Given the description of an element on the screen output the (x, y) to click on. 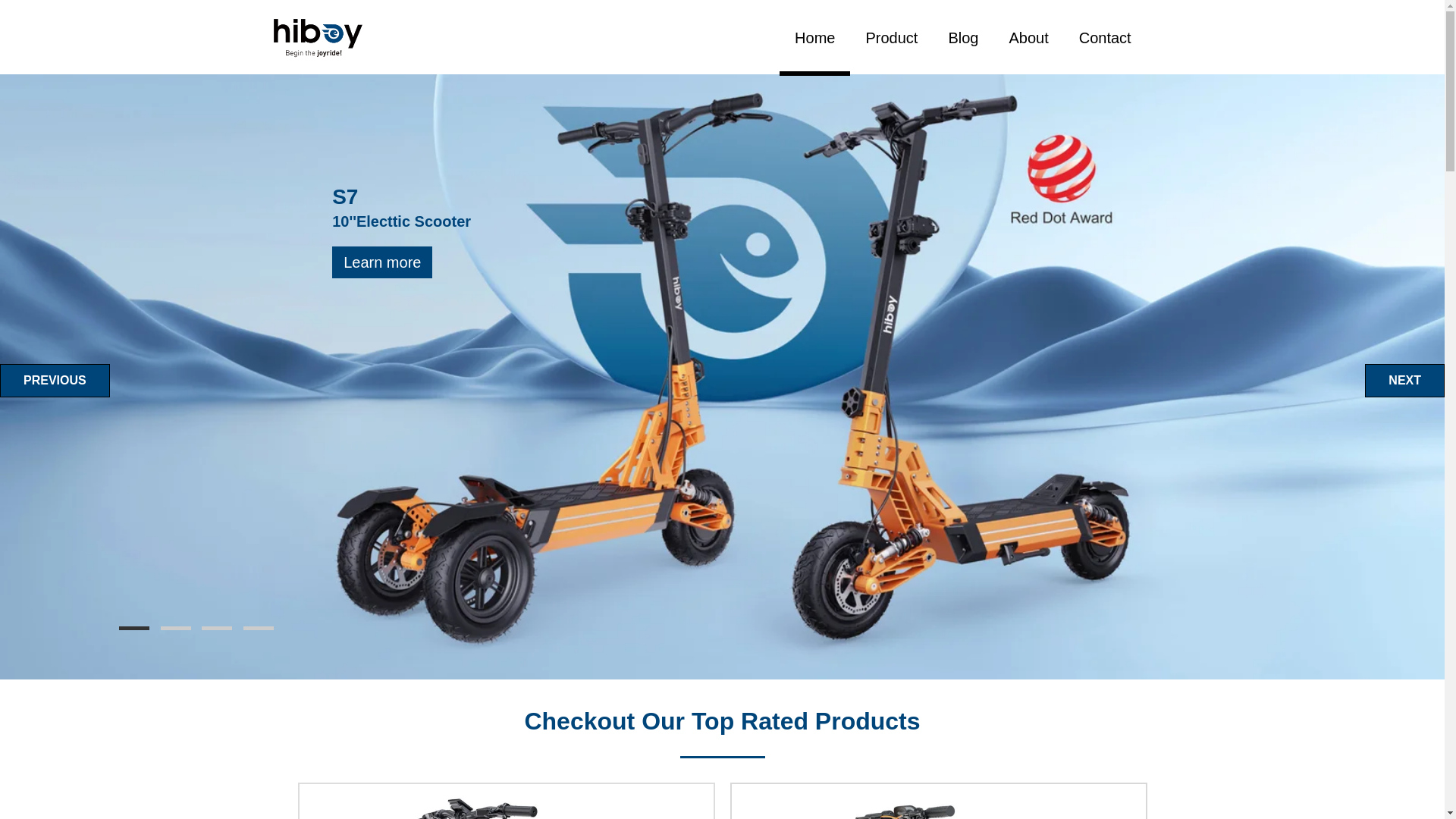
Product (891, 38)
PREVIOUS (55, 380)
About (1027, 38)
Contact (1105, 38)
Home (814, 38)
